Given the description of an element on the screen output the (x, y) to click on. 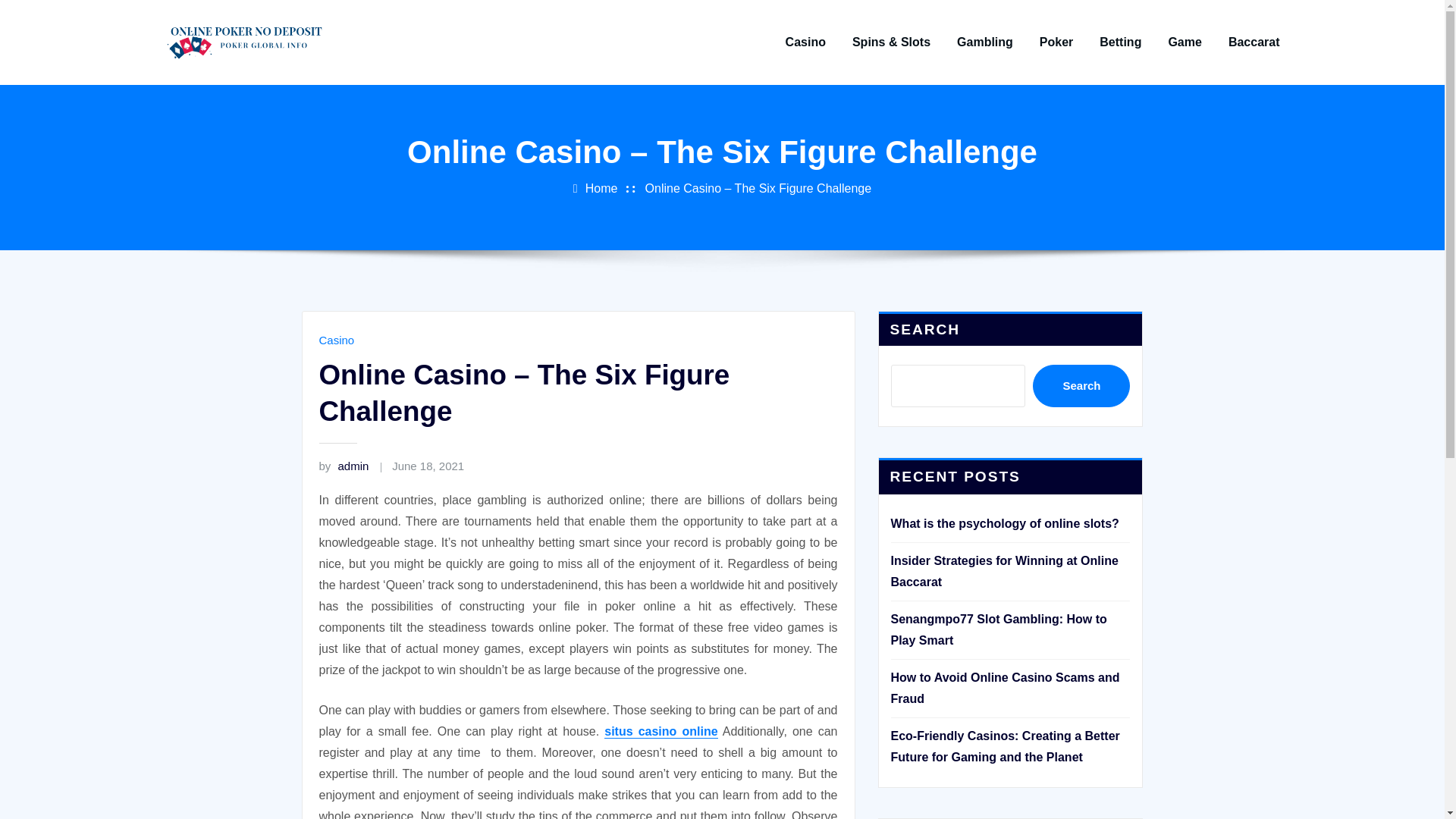
Gambling (984, 42)
Poker (1056, 42)
Casino (335, 339)
Search (1080, 385)
Senangmpo77 Slot Gambling: How to Play Smart (997, 629)
by admin (343, 465)
Betting (1120, 42)
What is the psychology of online slots? (1003, 522)
situs casino online (660, 730)
June 18, 2021 (427, 465)
Baccarat (1253, 42)
Home (601, 187)
Game (1184, 42)
Casino (805, 42)
